Given the description of an element on the screen output the (x, y) to click on. 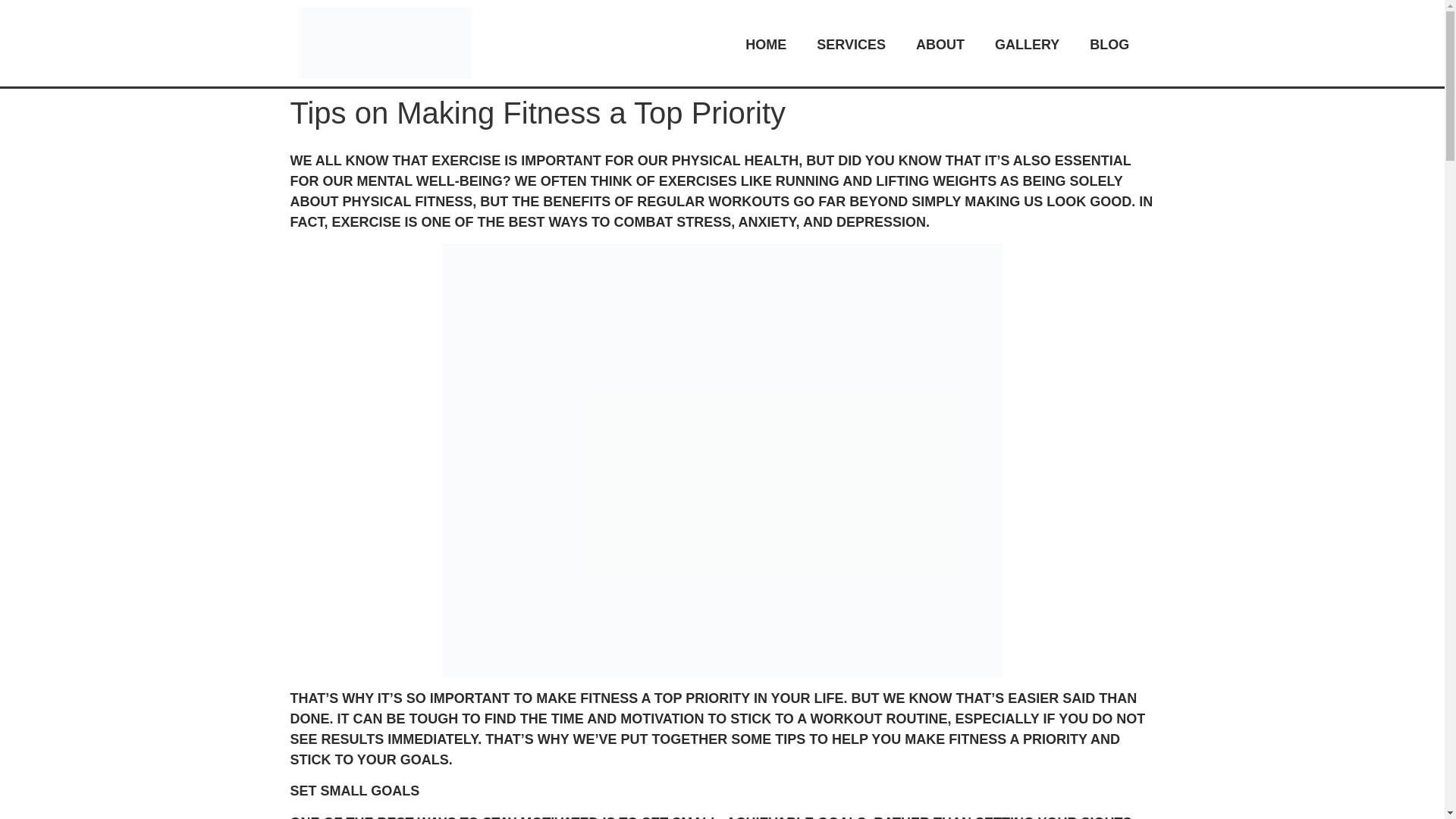
ABOUT (940, 43)
SERVICES (851, 43)
BLOG (1109, 43)
HOME (766, 43)
GALLERY (1026, 43)
